Given the description of an element on the screen output the (x, y) to click on. 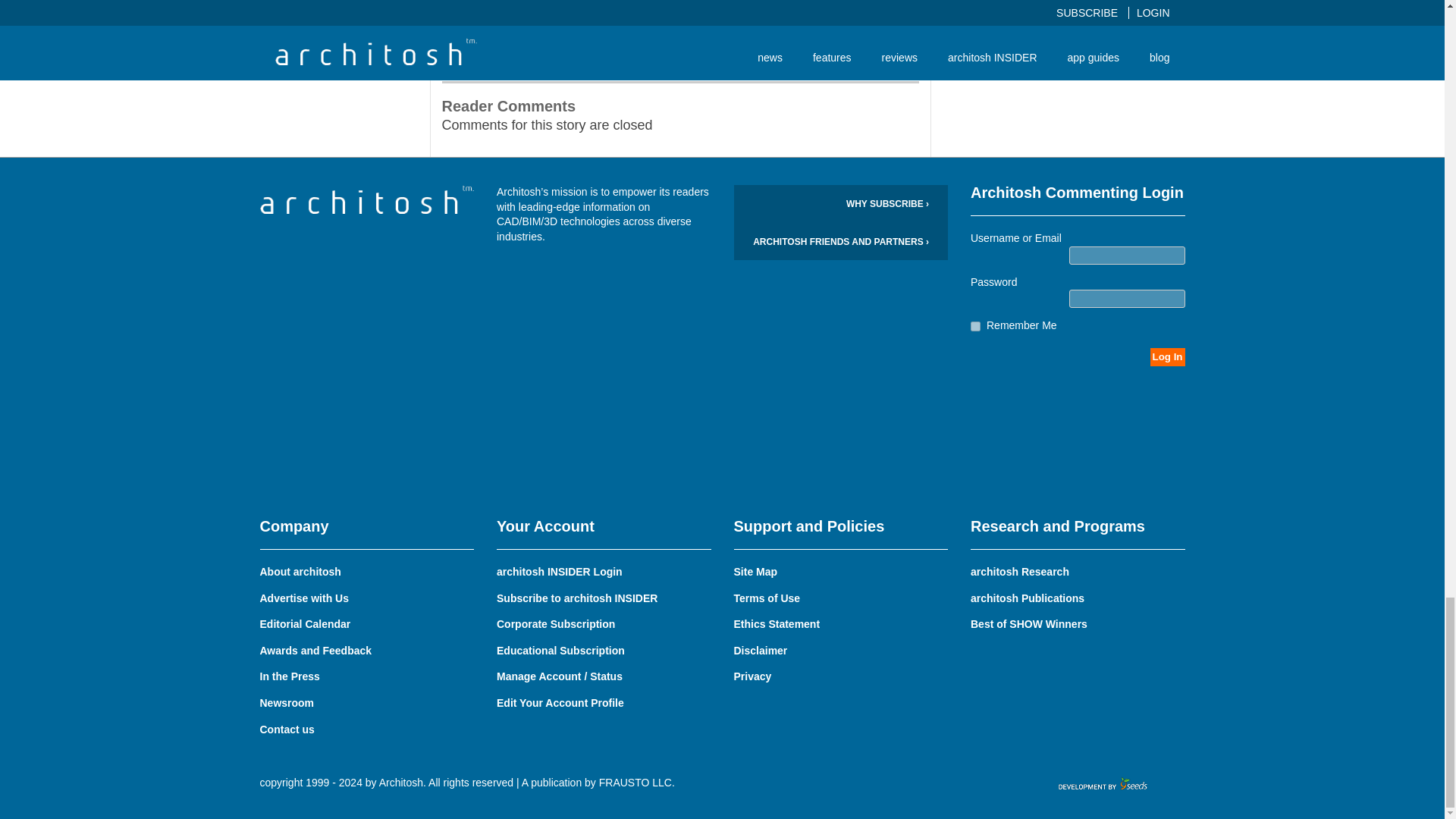
Log In (1167, 357)
Mac 3D (890, 1)
forever (975, 326)
Development by 9seeds (1104, 783)
